Given the description of an element on the screen output the (x, y) to click on. 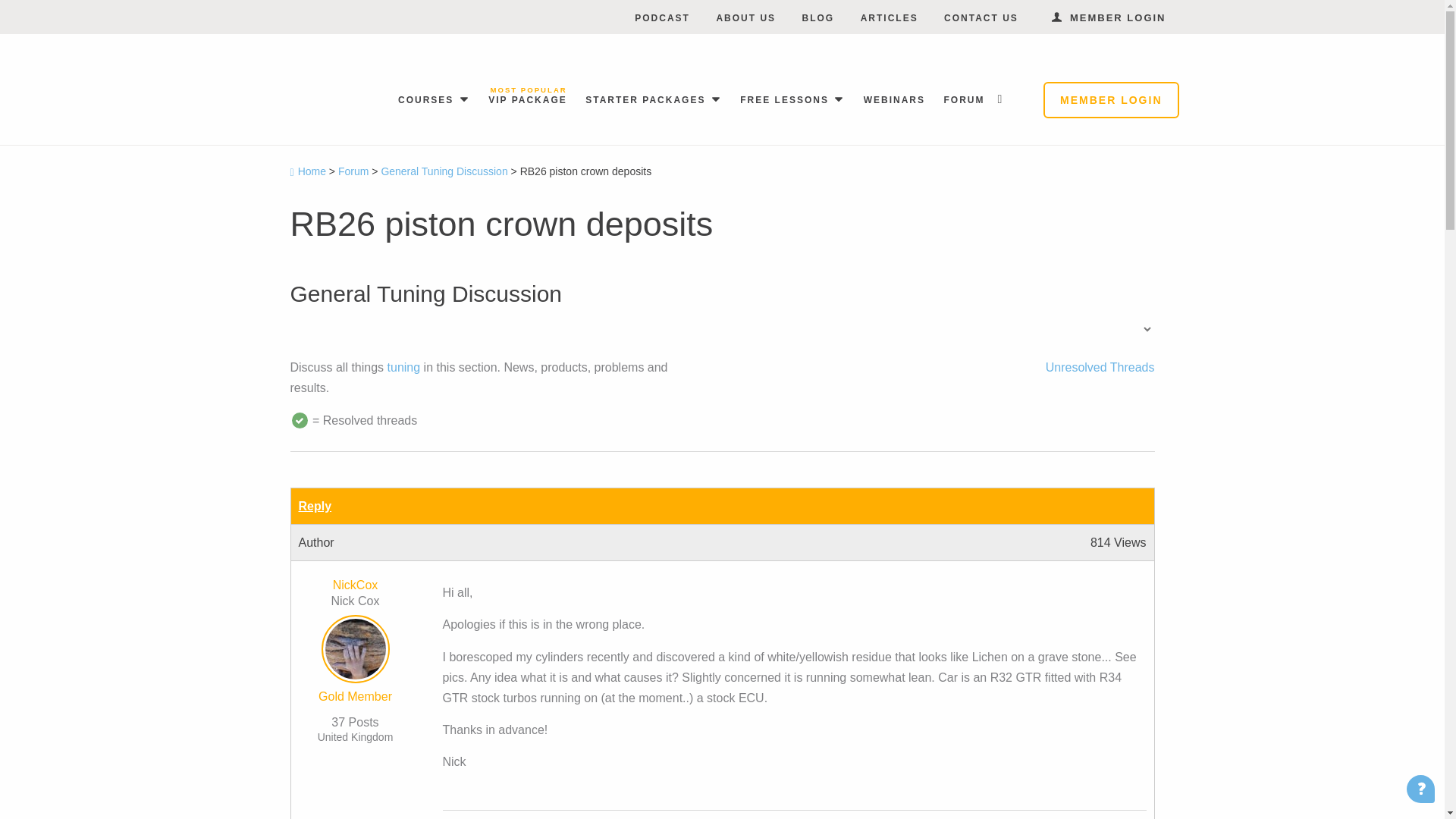
STARTER PACKAGES (647, 98)
Click here to reply to this topic (314, 505)
BLOG (818, 18)
MEMBER LOGIN (1108, 17)
FORUM (963, 98)
HIGH PERFORMANCE ACADEMY (359, 92)
Click here to view NickCox (355, 652)
MEMBER LOGIN (1110, 99)
PODCAST (662, 18)
FREE LESSONS (785, 98)
